Given the description of an element on the screen output the (x, y) to click on. 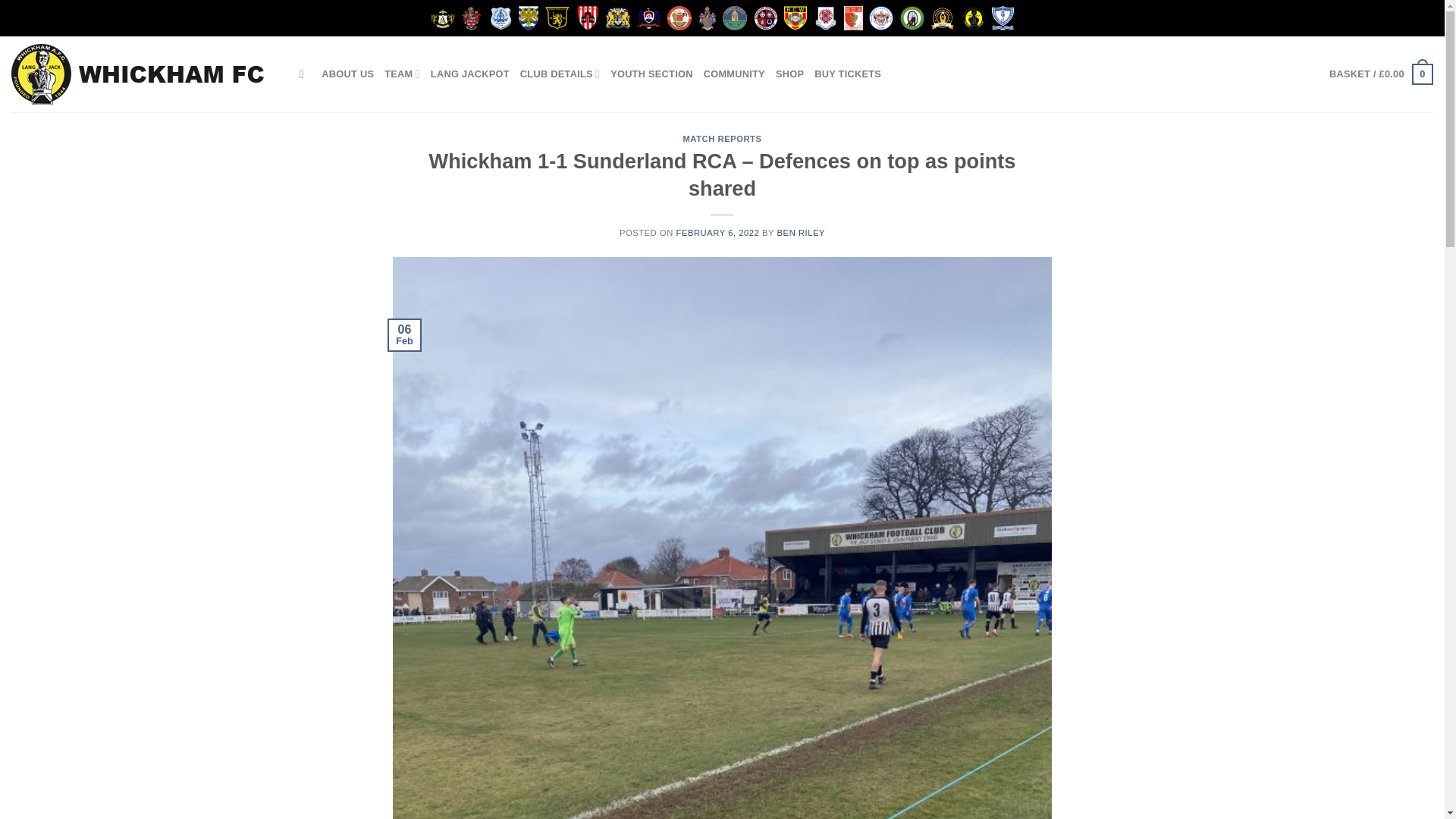
Penrith (734, 17)
Newton Aycliffe (649, 17)
SHOP (789, 73)
LANG JACKPOT (469, 73)
Newcastle Benfield (617, 17)
YOUTH SECTION (651, 73)
Guisborough Town (587, 17)
Redcar Athletic (765, 17)
Crook Town (556, 17)
Thornaby (881, 17)
BUY TICKETS (846, 73)
ABOUT US (347, 73)
Ashington (442, 18)
North Shields (678, 17)
CLUB DETAILS (559, 73)
